Given the description of an element on the screen output the (x, y) to click on. 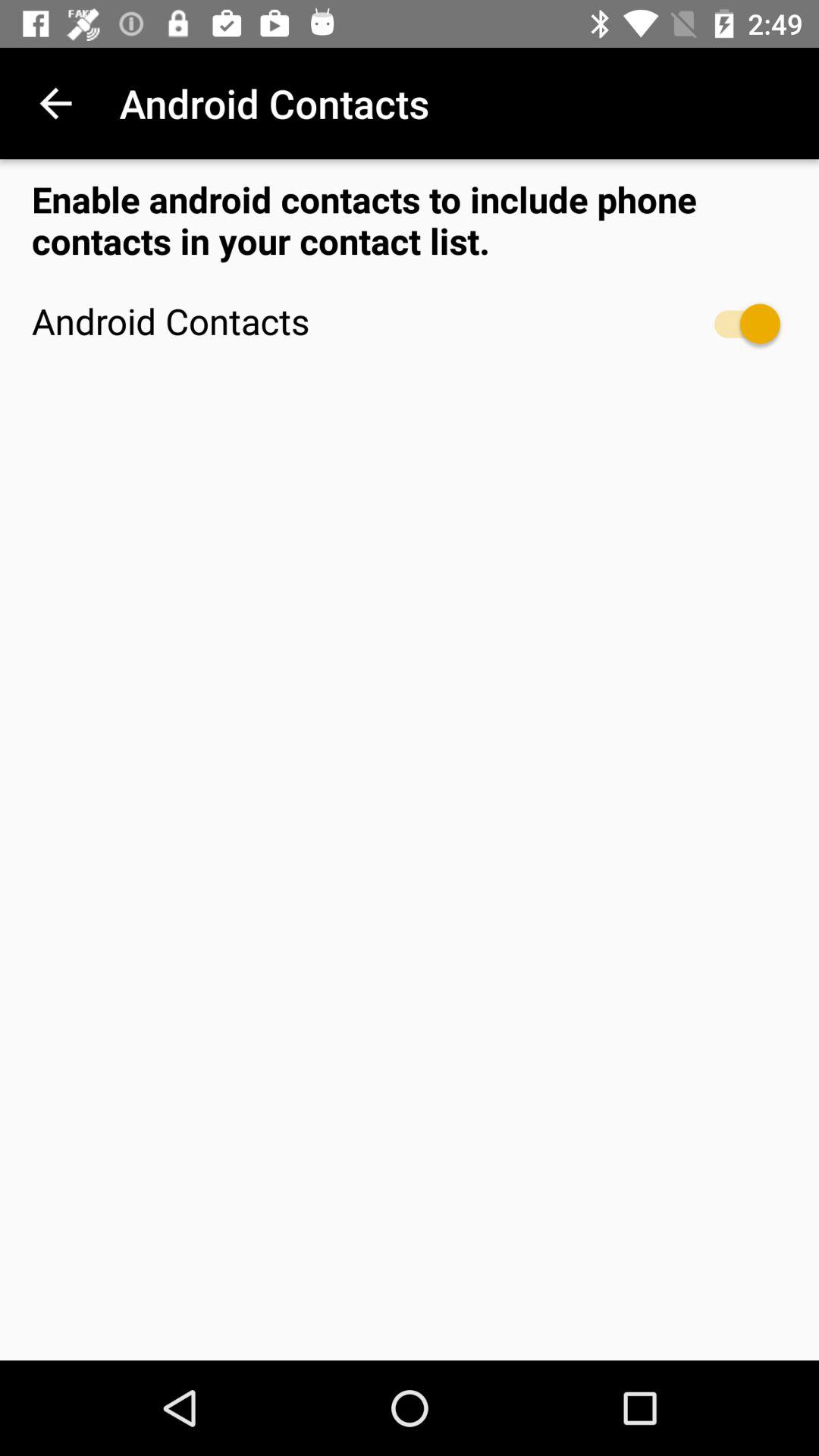
click item to the right of the android contacts icon (739, 323)
